Given the description of an element on the screen output the (x, y) to click on. 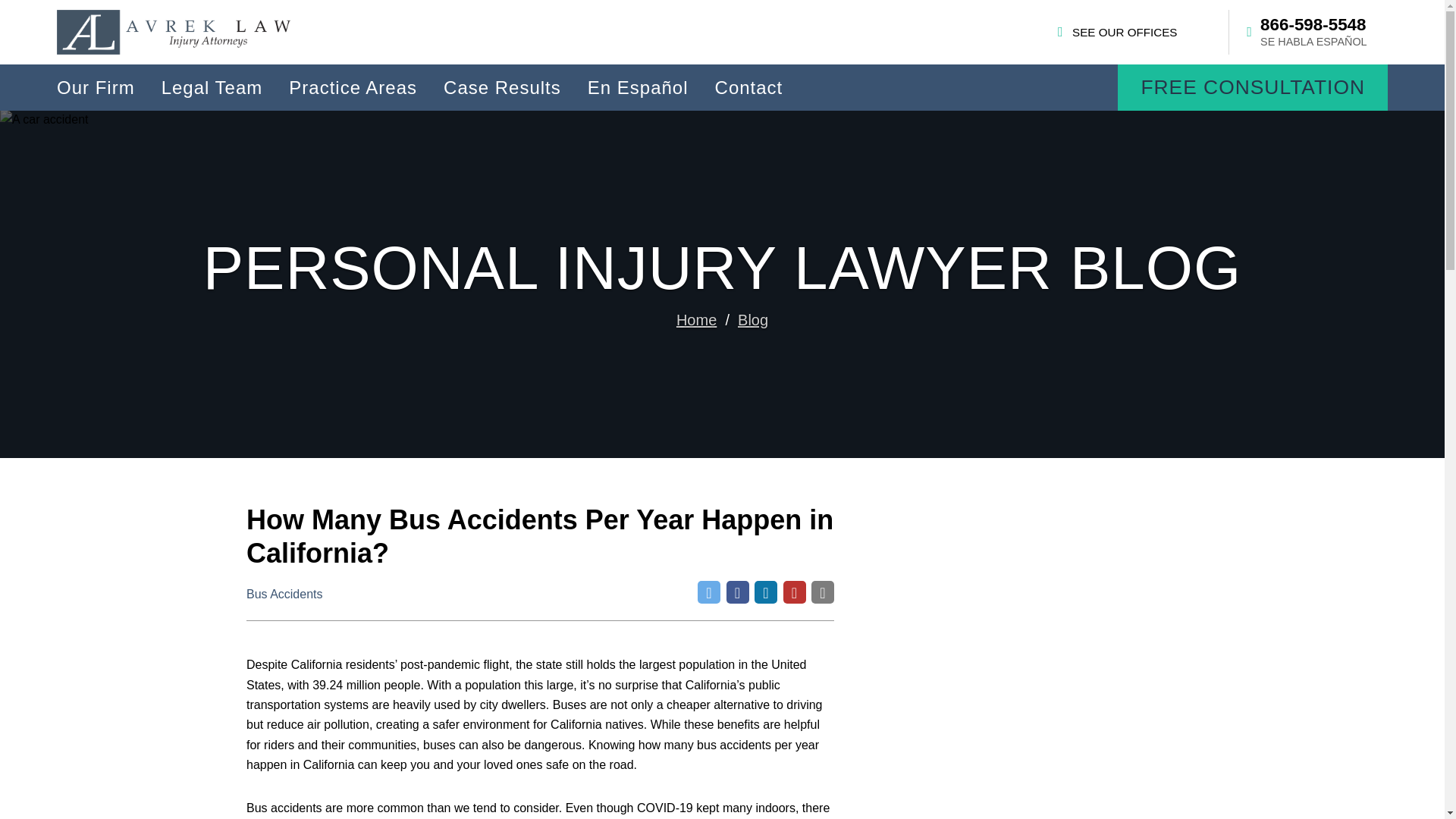
Share on Twitter (708, 591)
Practice Areas (353, 87)
Contact (749, 87)
Share on LinkedIn (765, 591)
Home (696, 320)
SEE OUR OFFICES (1117, 32)
Bus Accidents (284, 594)
Legal Team (211, 87)
Case Results (502, 87)
Our Firm (95, 87)
Share on Pinterest (794, 591)
Email this Article (822, 591)
Blog (753, 320)
Share on Facebook (737, 591)
FREE CONSULTATION (1252, 87)
